Given the description of an element on the screen output the (x, y) to click on. 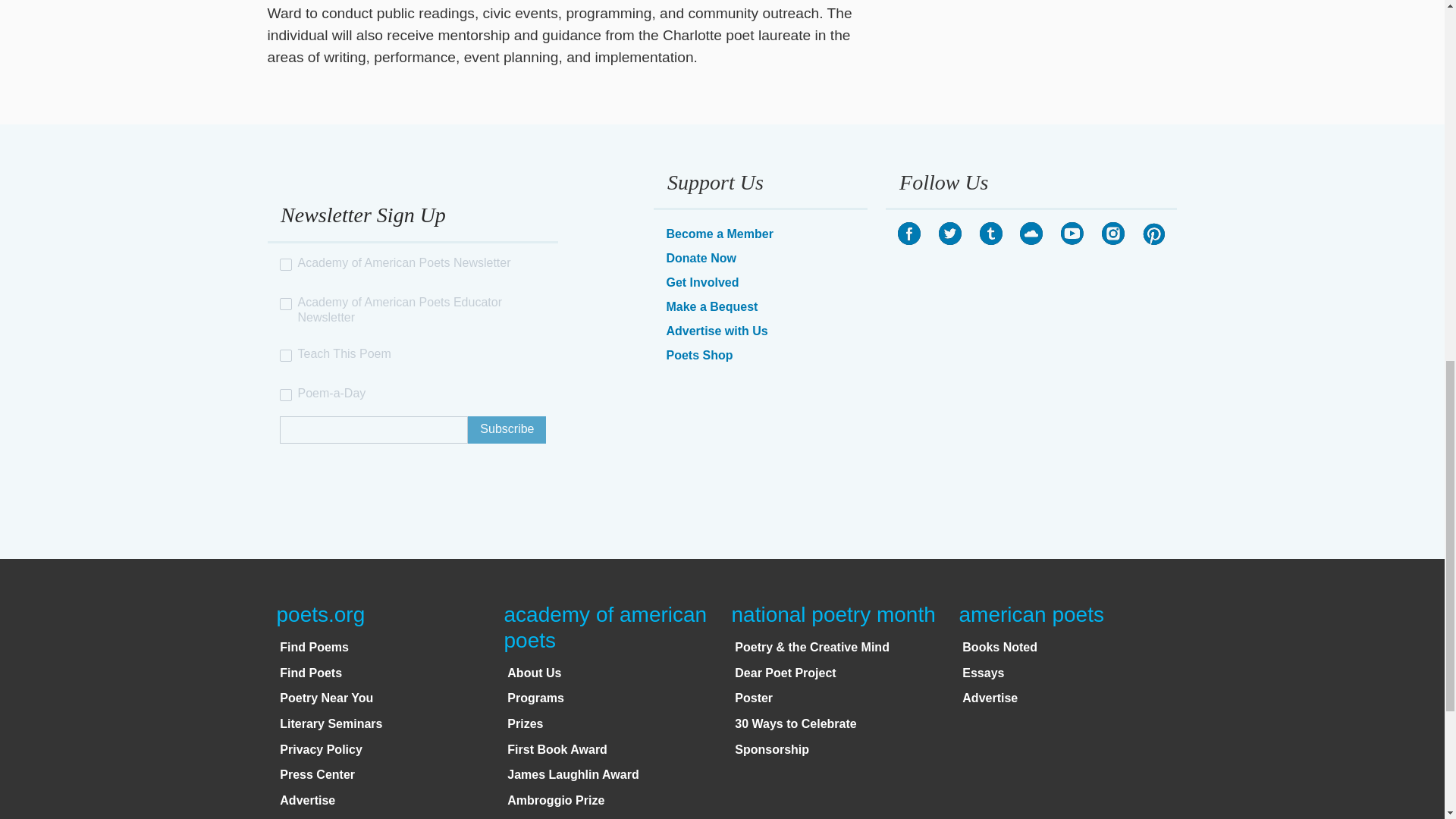
Subscribe (506, 429)
Advertise (306, 799)
Poetry Near You (325, 697)
Tumblr (991, 232)
Advertise with Us (716, 330)
Donate Now (700, 257)
Twitter (949, 232)
Get Involved (701, 282)
Privacy Policy (320, 748)
Poets Shop (698, 354)
